Given the description of an element on the screen output the (x, y) to click on. 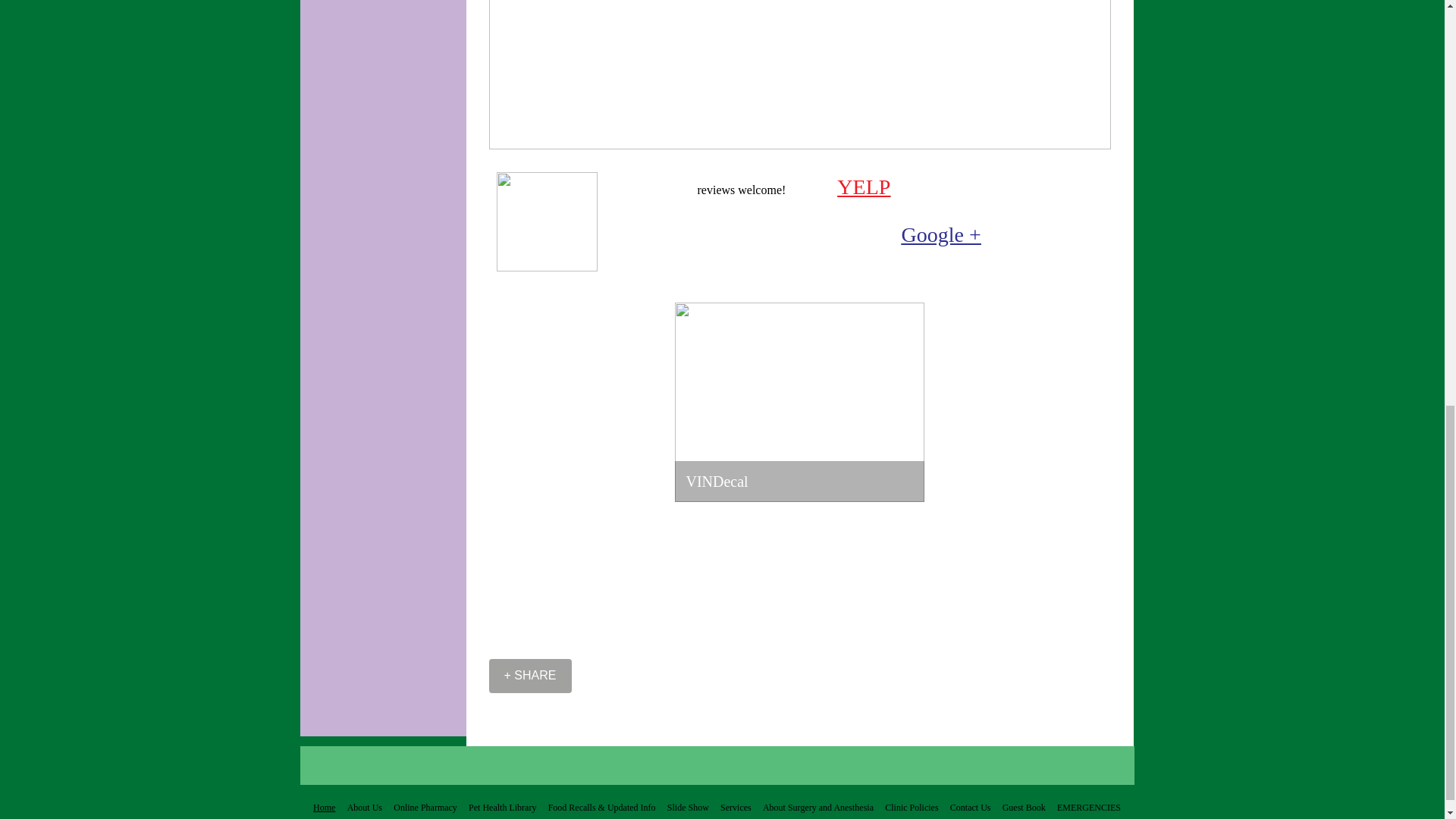
EMERGENCIES (1088, 805)
Pet Health Library (502, 805)
About Us (364, 805)
Home (324, 805)
Services (735, 805)
Contact Us (969, 805)
Slide Show (687, 805)
YELP (863, 187)
Guest Book (1023, 805)
About Surgery and Anesthesia (818, 805)
